Given the description of an element on the screen output the (x, y) to click on. 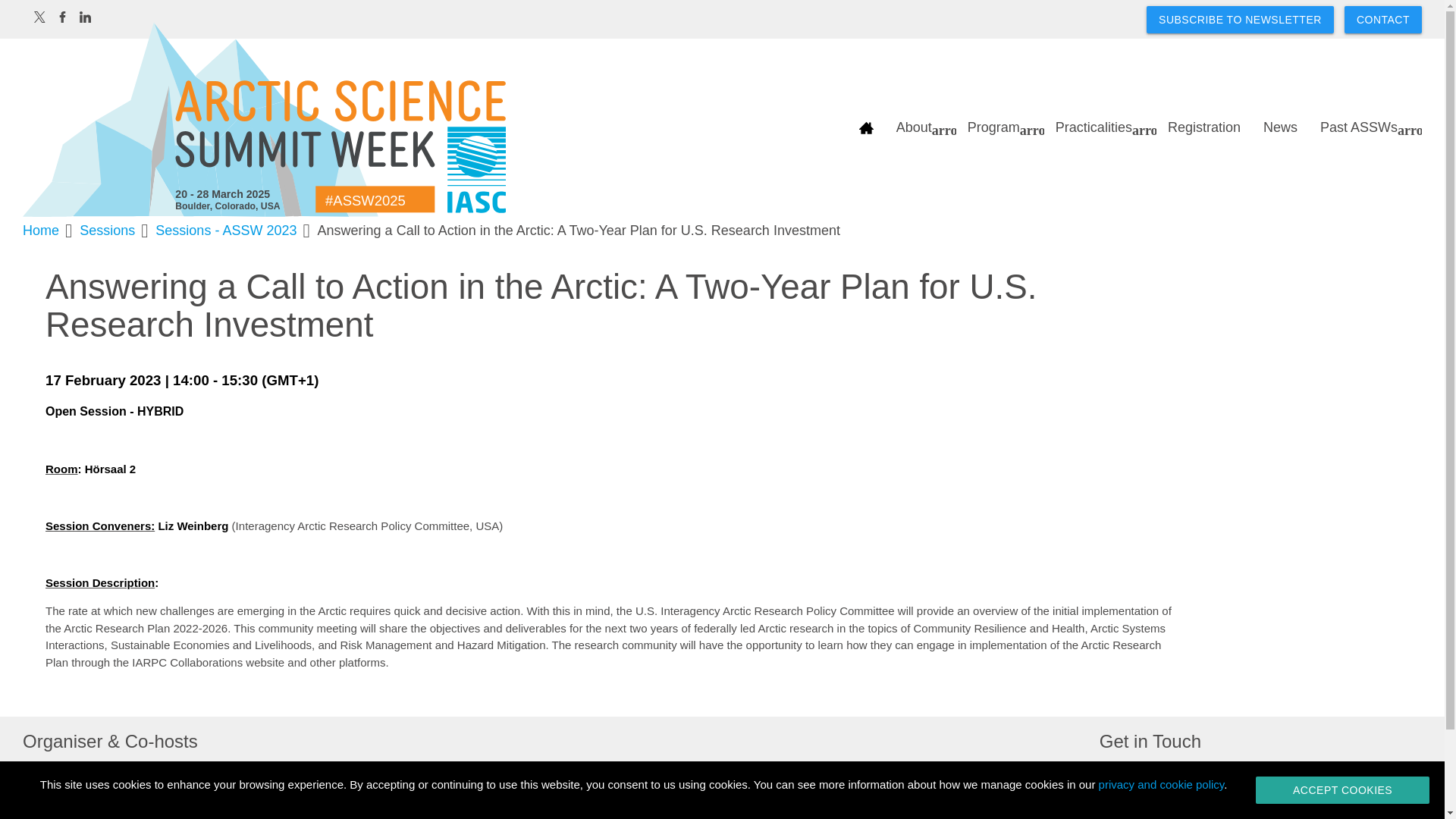
Sessions (107, 230)
Home (41, 230)
SUBSCRIBE TO NEWSLETTER (1240, 19)
CONTACT (1382, 19)
assw.info (264, 120)
Sessions - ASSW 2023 (226, 230)
